Given the description of an element on the screen output the (x, y) to click on. 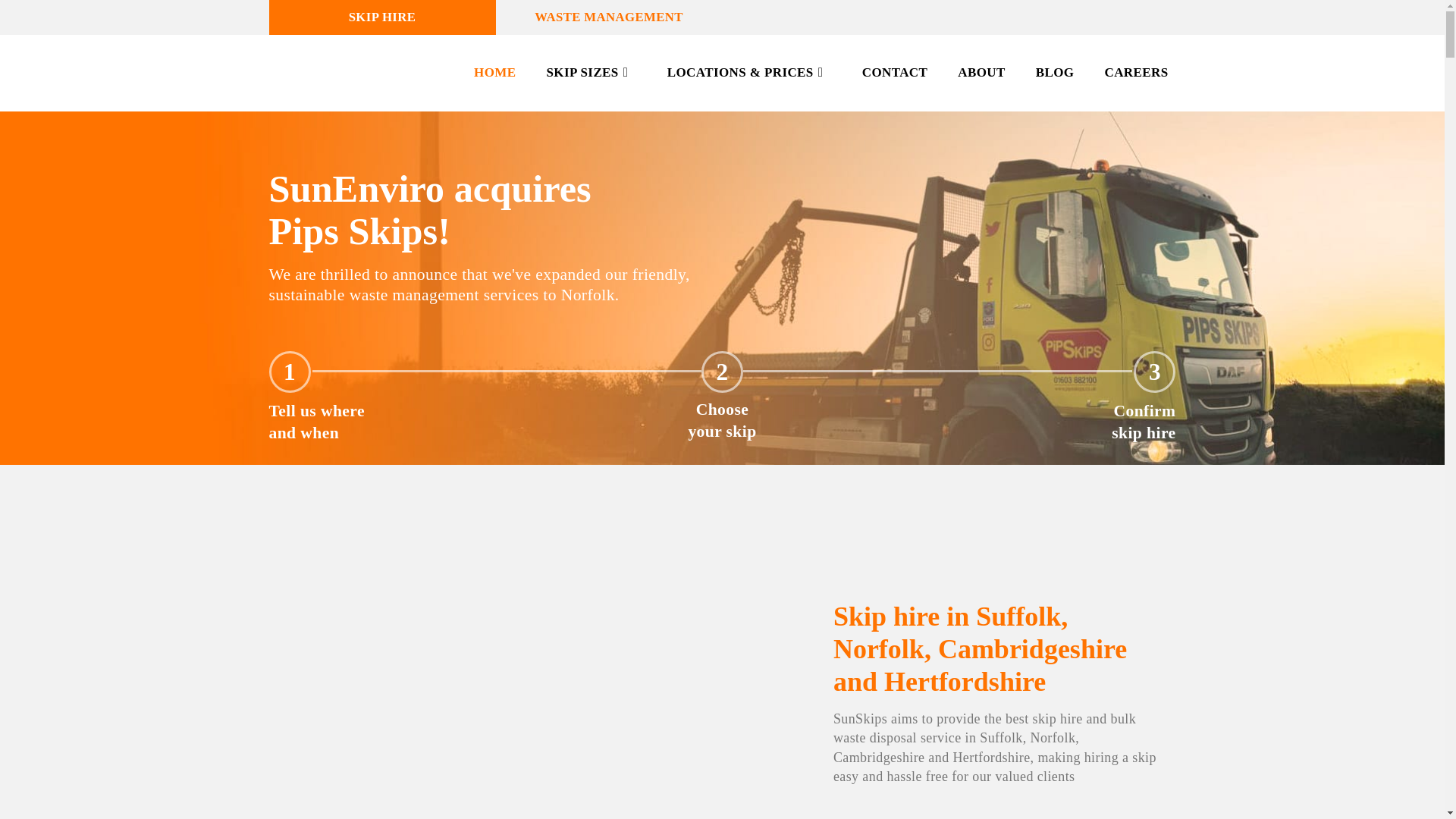
HOME (486, 72)
ABOUT (972, 72)
BLOG (1047, 72)
SKIP SIZES (584, 72)
SUNSKIPS - SKIP HIRE (338, 72)
CAREERS (1127, 72)
WASTE MANAGEMENT (609, 17)
CONTACT (888, 72)
SKIP HIRE (381, 17)
